Given the description of an element on the screen output the (x, y) to click on. 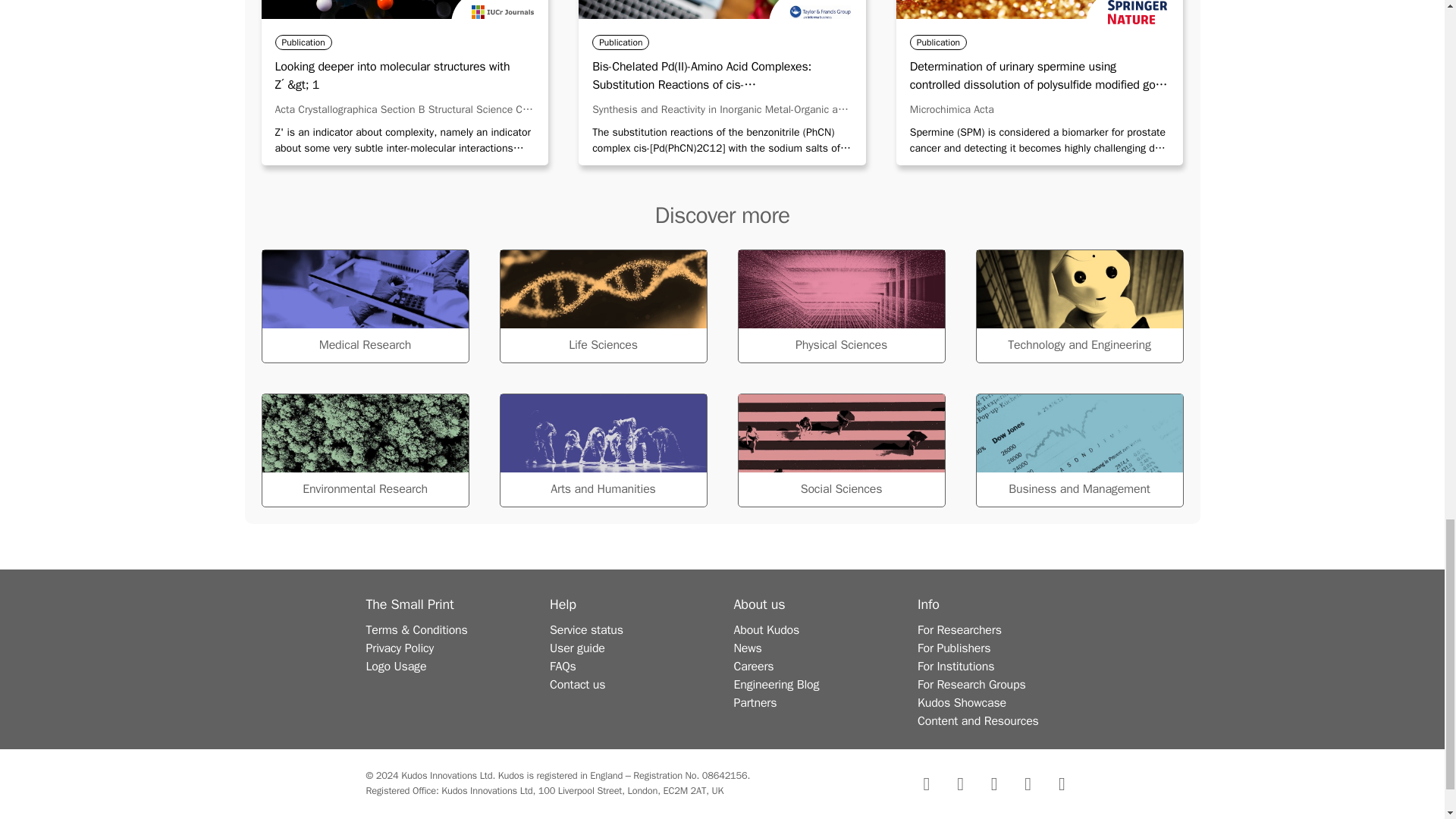
Physical Sciences (840, 306)
Business and Management (1078, 449)
Contact us (577, 684)
Microchimica Acta (952, 109)
Social Sciences (840, 449)
News (747, 648)
Privacy Policy (399, 648)
Engineering Blog (776, 684)
For Researchers (959, 630)
Medical Research (364, 306)
